Given the description of an element on the screen output the (x, y) to click on. 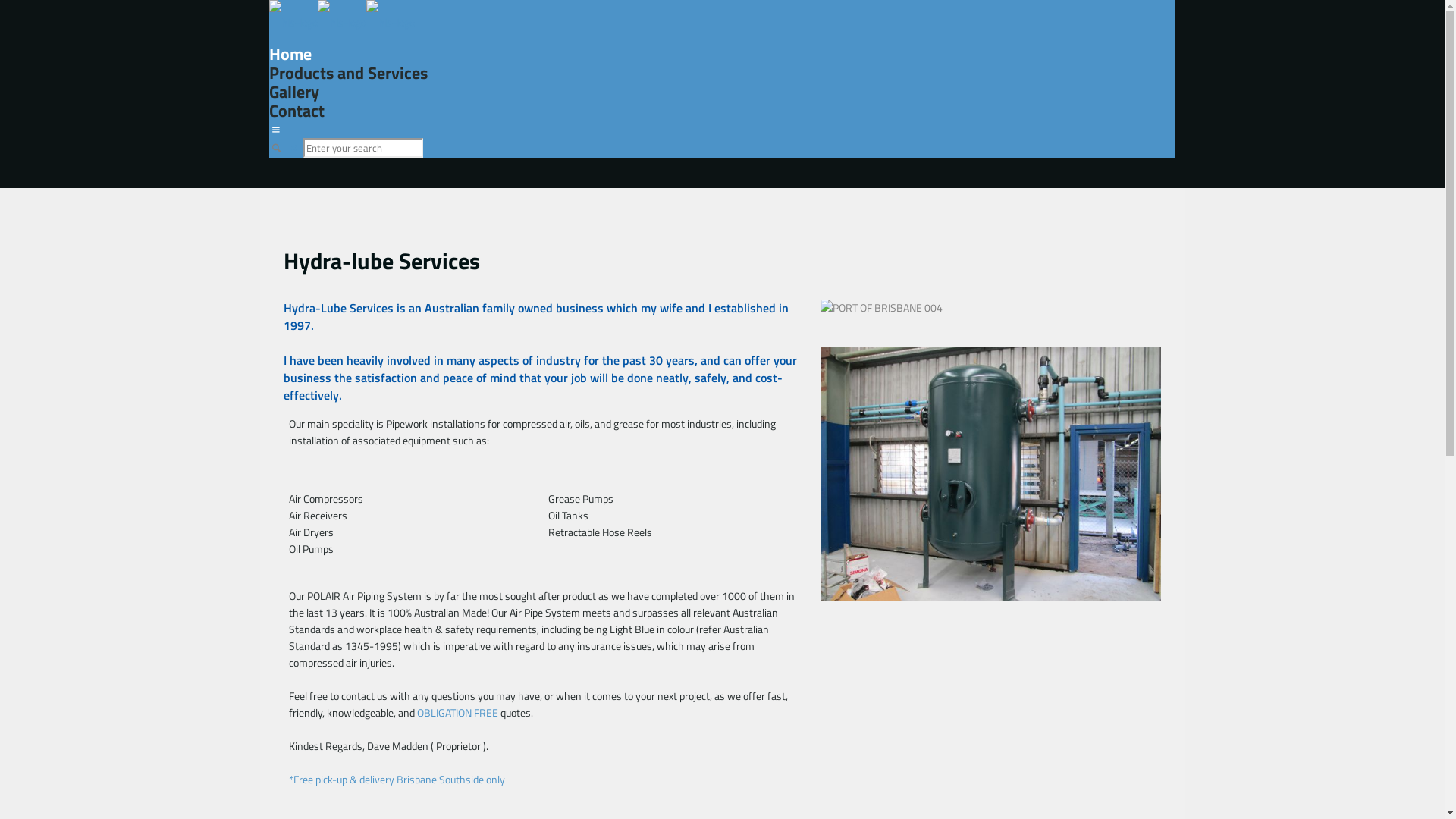
Products and Services Element type: text (348, 72)
Home Element type: text (290, 53)
Gallery Element type: text (294, 91)
Contact Element type: text (296, 110)
